Given the description of an element on the screen output the (x, y) to click on. 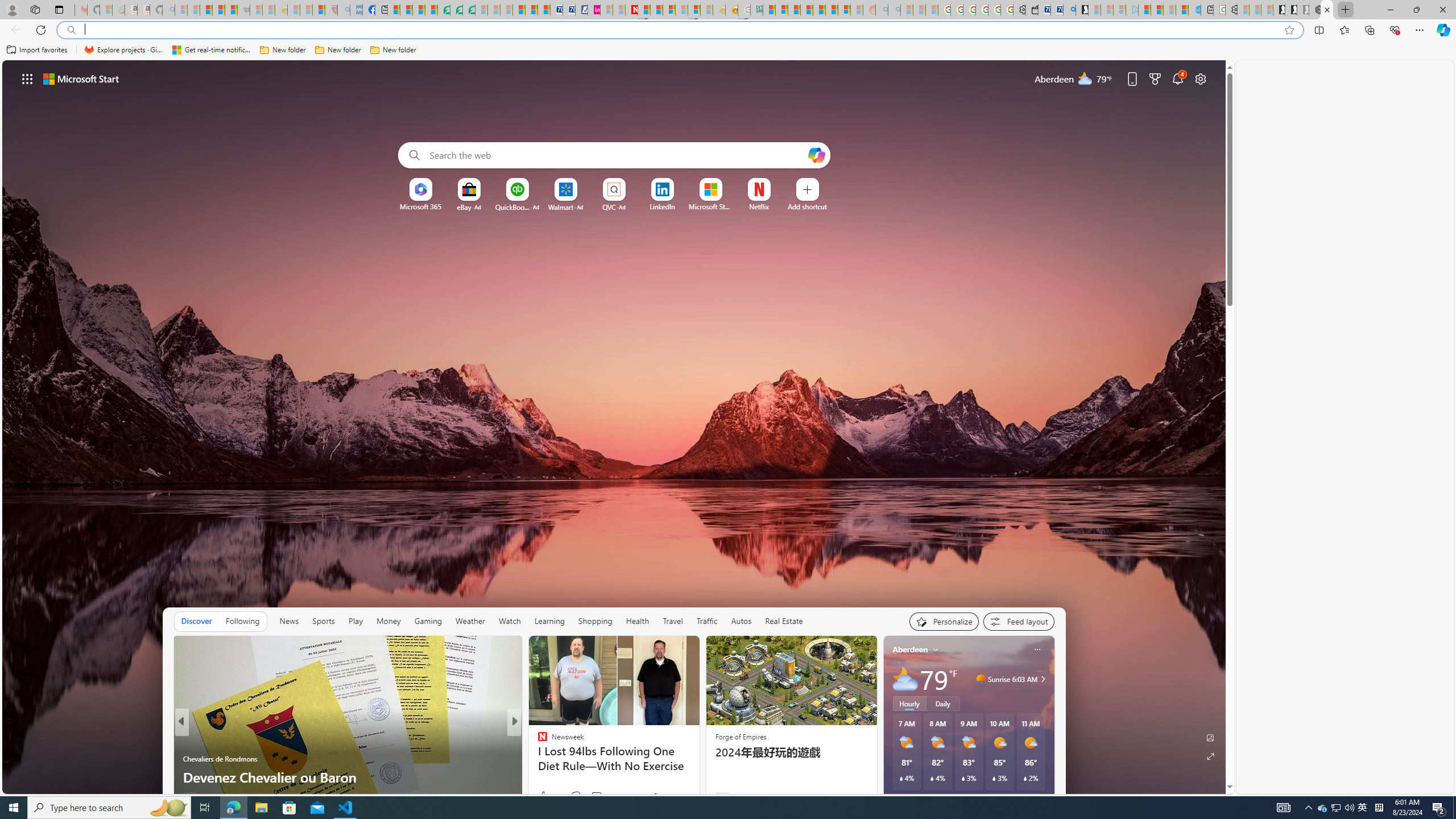
Gaming (428, 621)
Shopping (595, 621)
Travel (672, 621)
Trusted Community Engagement and Contributions | Guidelines (644, 9)
Terms of Use Agreement (456, 9)
Learning (549, 621)
Mostly cloudy (904, 678)
Learning (549, 621)
Combat Siege (243, 9)
Watch (509, 621)
